Given the description of an element on the screen output the (x, y) to click on. 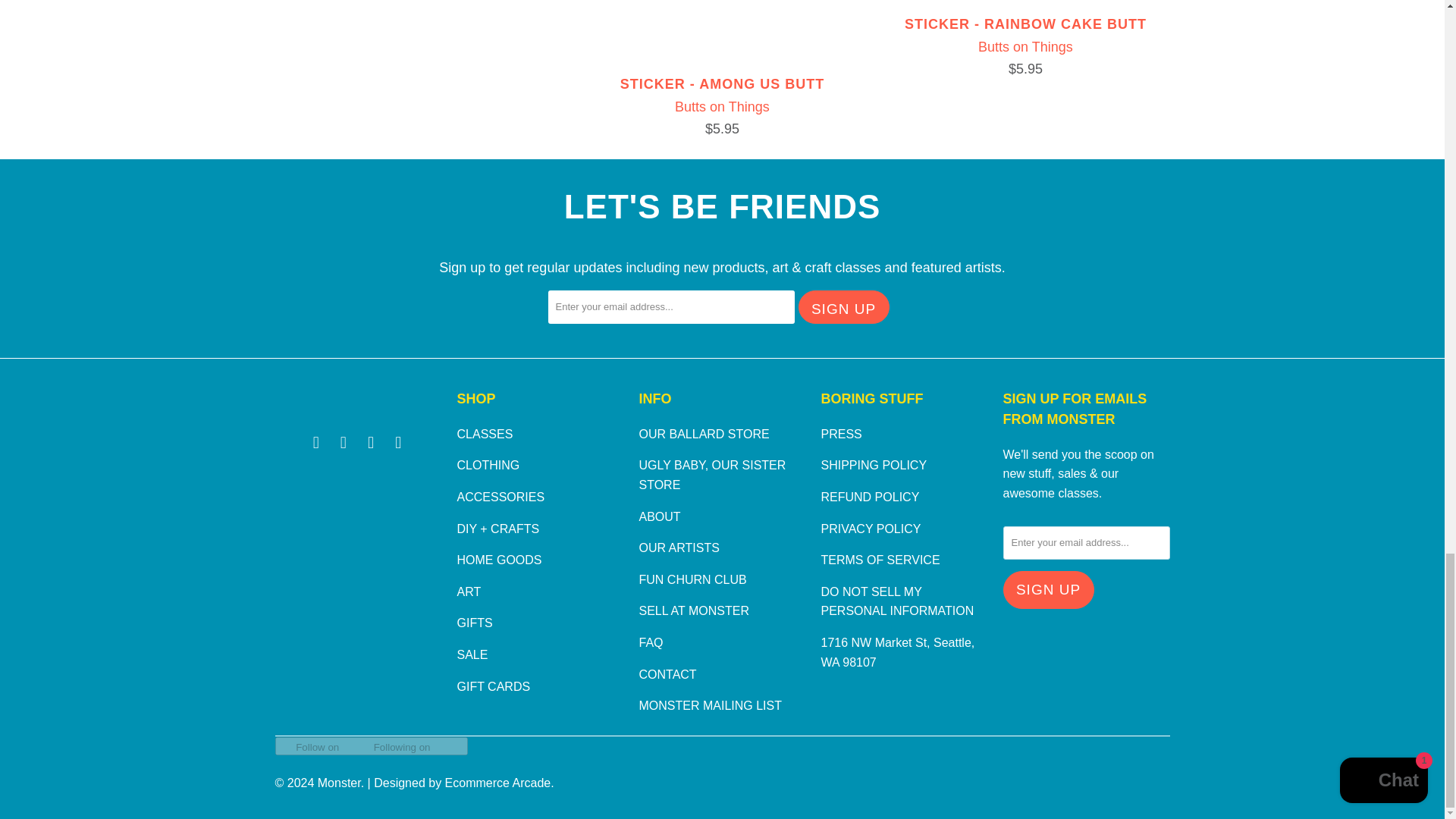
Sign Up (842, 306)
Sign Up (1048, 589)
